Given the description of an element on the screen output the (x, y) to click on. 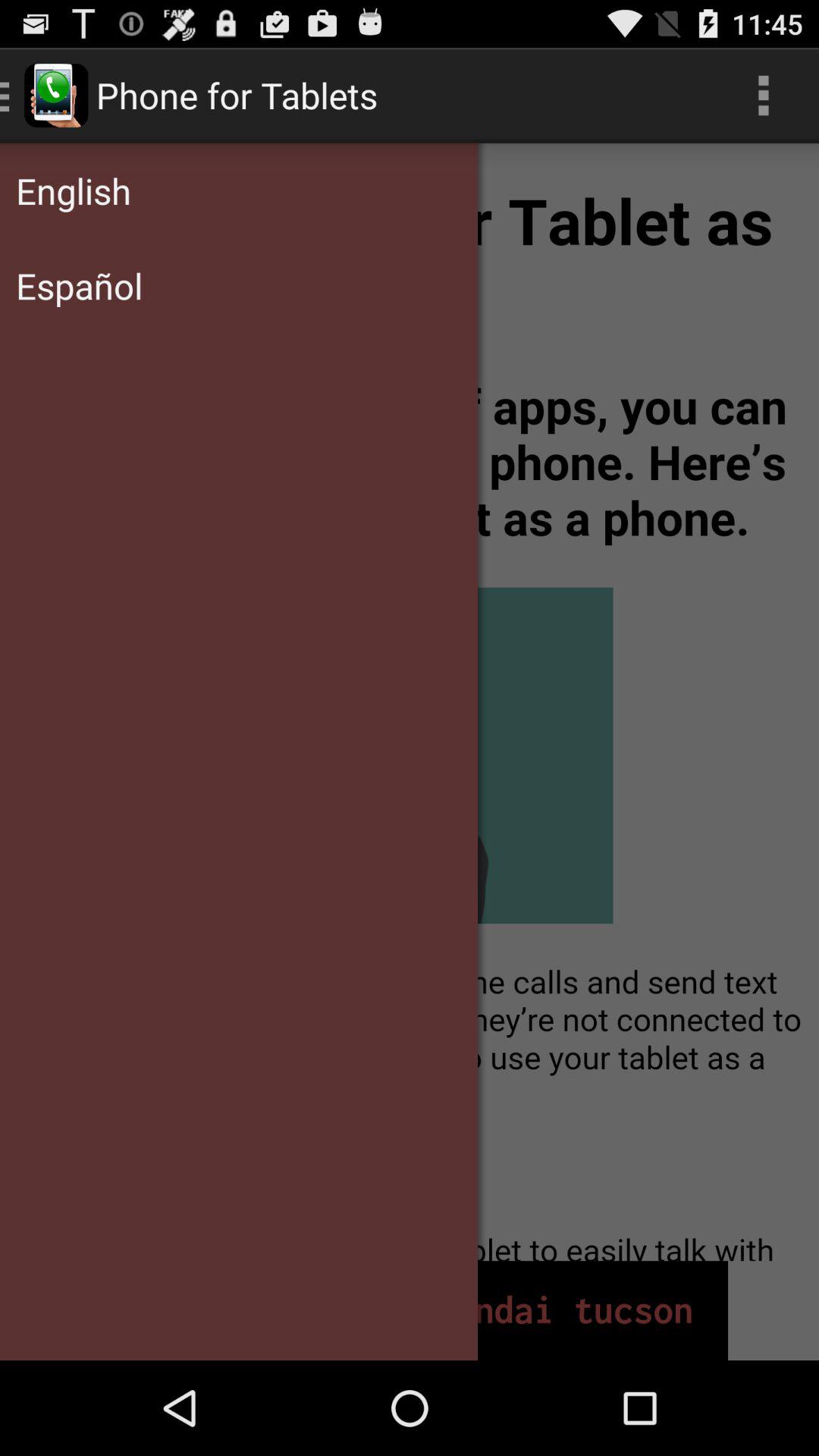
main content window (409, 701)
